Given the description of an element on the screen output the (x, y) to click on. 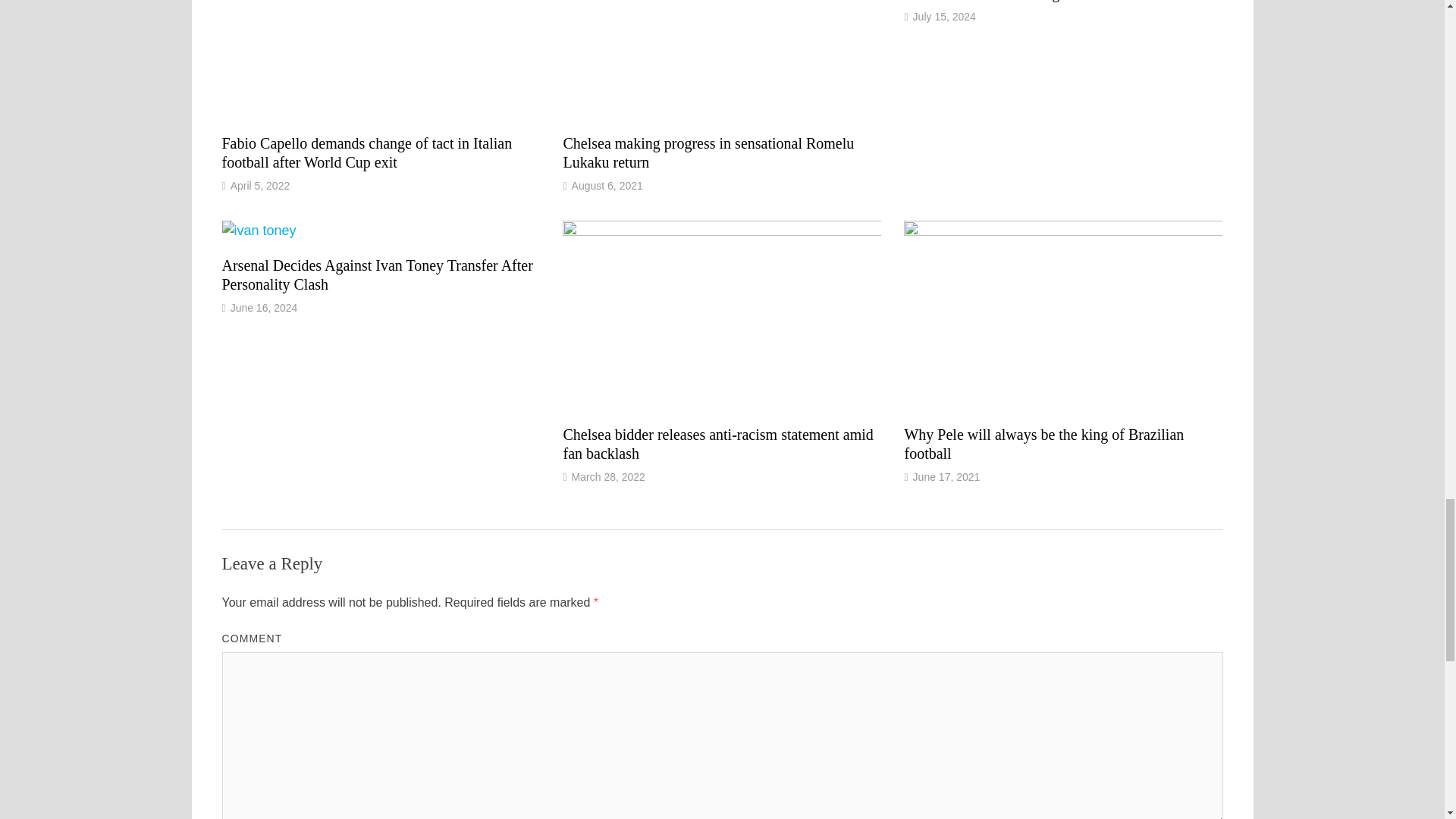
Chelsea making progress in sensational Romelu Lukaku return (707, 152)
